Given the description of an element on the screen output the (x, y) to click on. 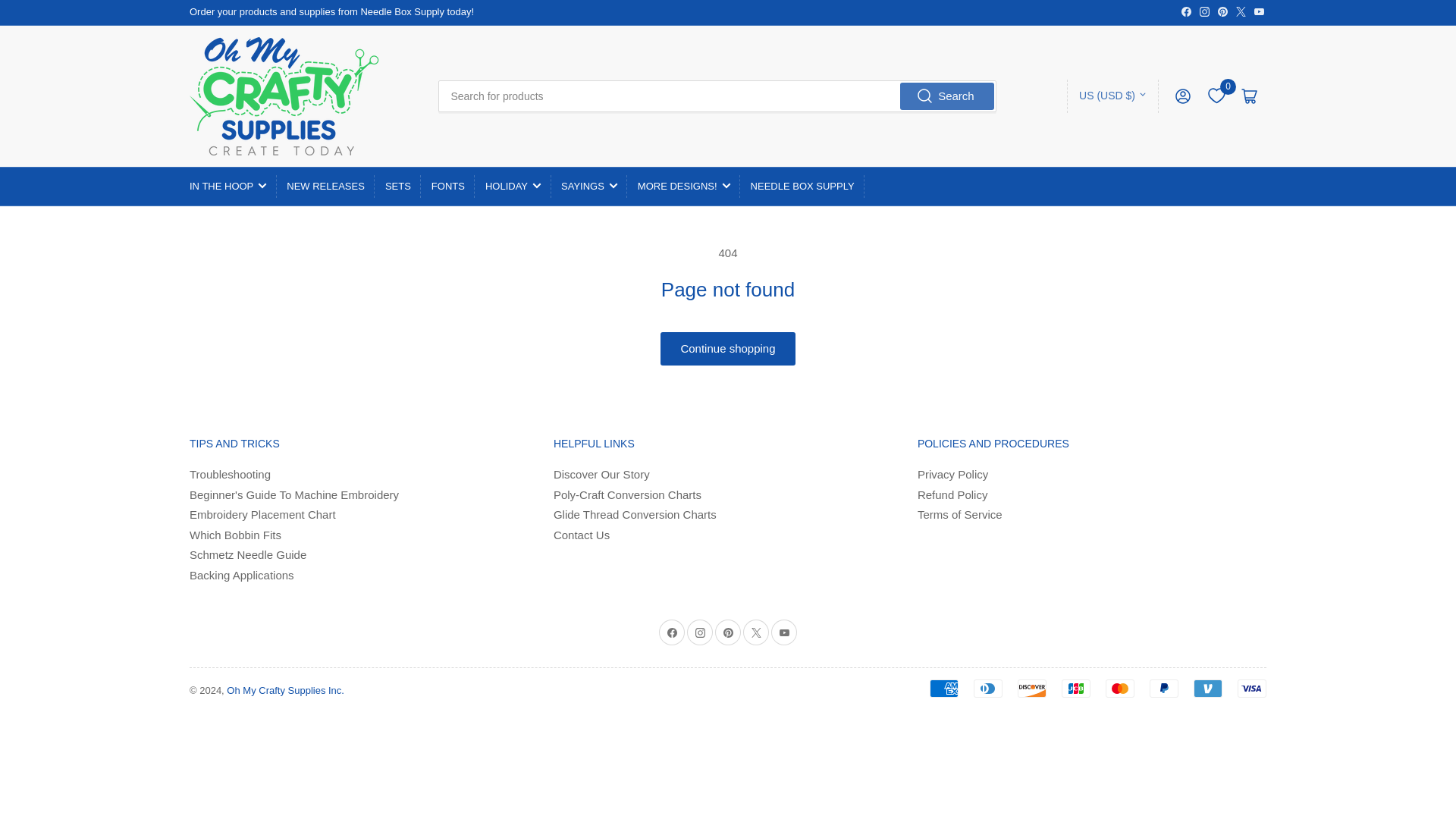
Search (946, 95)
YouTube (1259, 11)
Instagram (1203, 11)
Pinterest (1222, 11)
Facebook (1186, 11)
American Express (944, 688)
X (1240, 11)
